Given the description of an element on the screen output the (x, y) to click on. 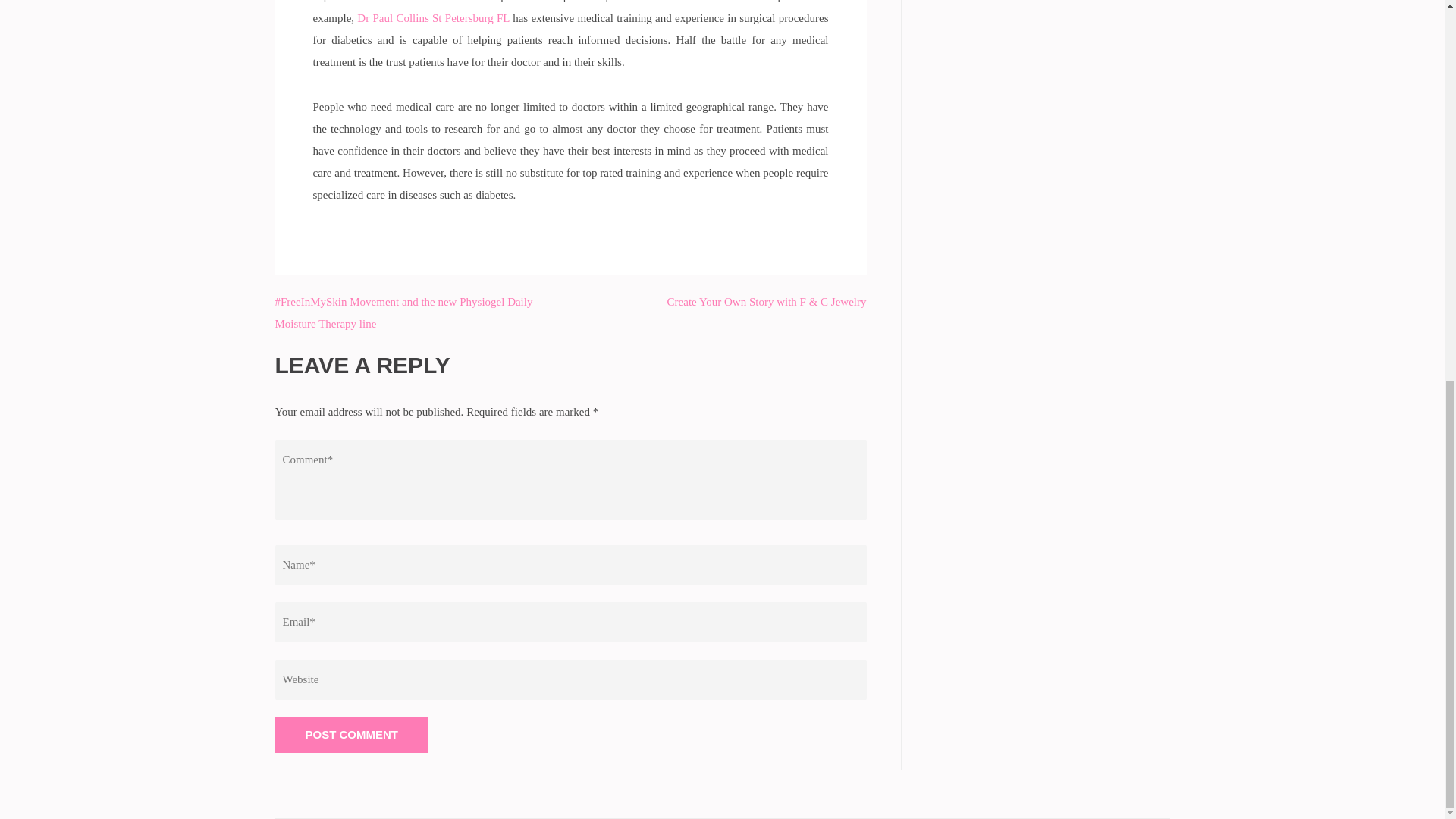
Post Comment (351, 734)
Post Comment (351, 734)
Dr Paul Collins St Petersburg FL (432, 17)
